Given the description of an element on the screen output the (x, y) to click on. 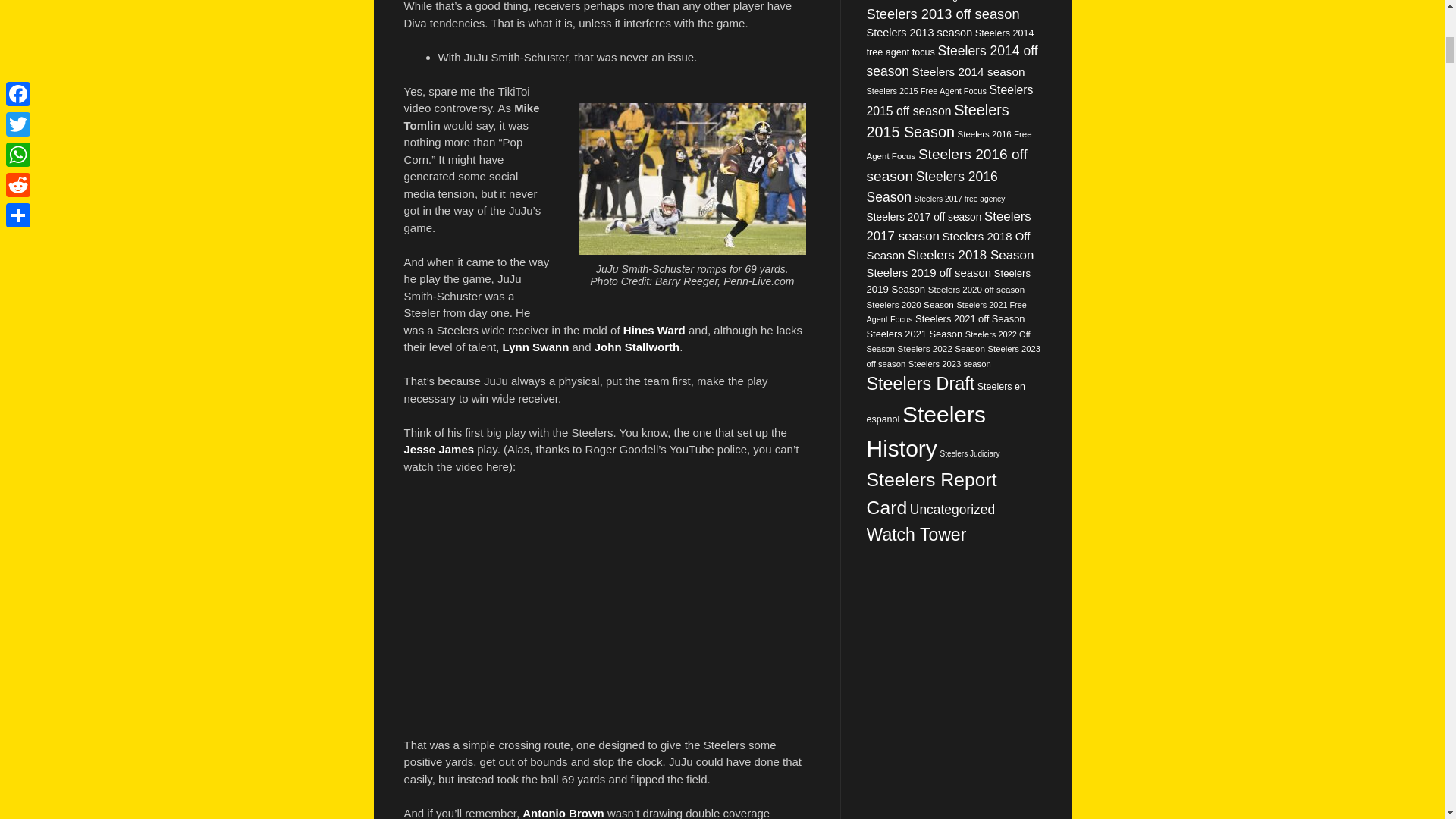
Lynn Swann (535, 346)
John Stallworth (636, 346)
Juju Smith-Schuster 69yd catch: Steelers vs Patriots Week 15 (600, 603)
Hines Ward (654, 328)
Jesse James (438, 449)
Antonio Brown (563, 812)
